Given the description of an element on the screen output the (x, y) to click on. 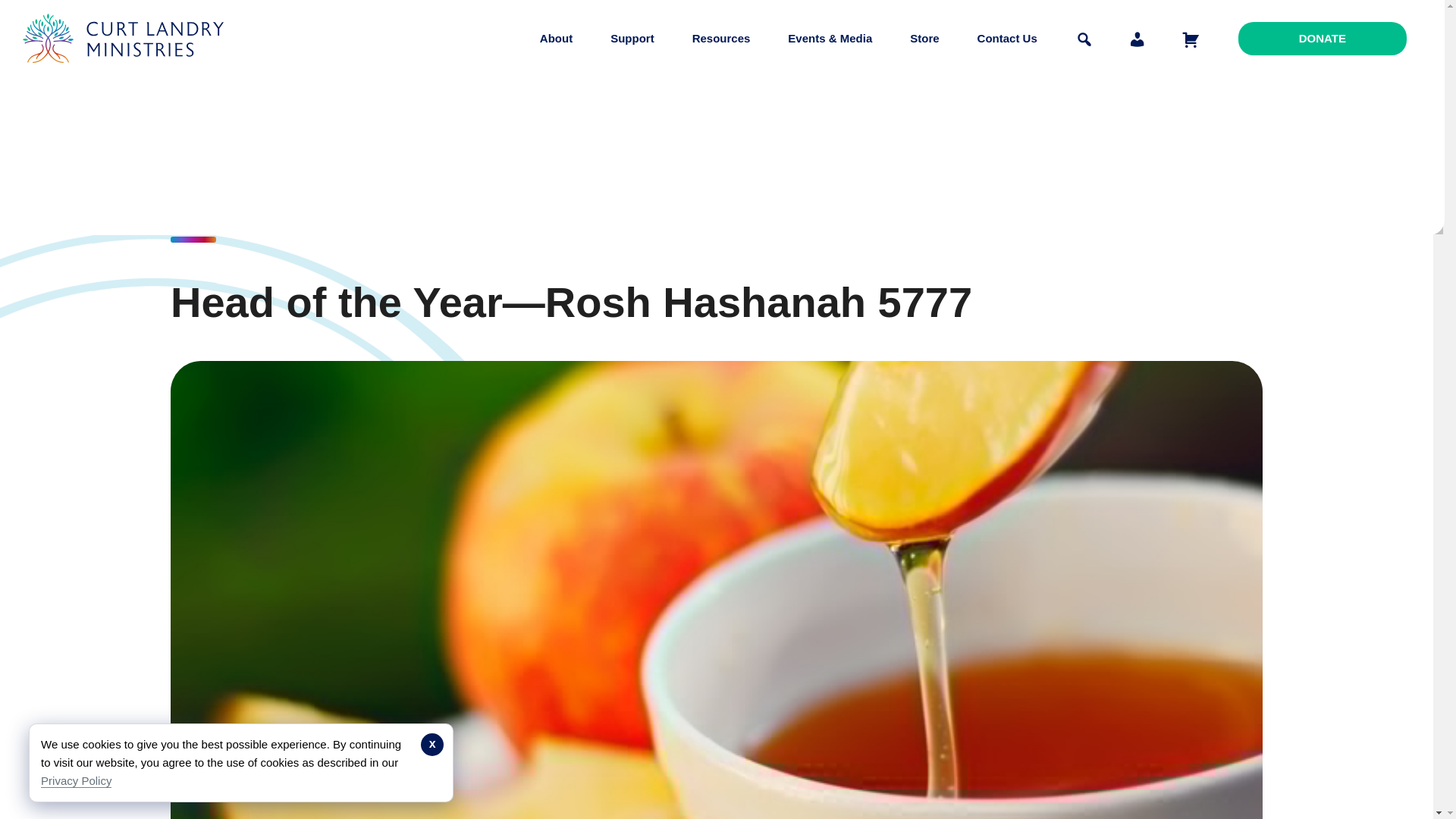
Curt Landry Ministries (127, 74)
Support (631, 38)
Resources (721, 38)
Store (924, 38)
About (556, 38)
